Given the description of an element on the screen output the (x, y) to click on. 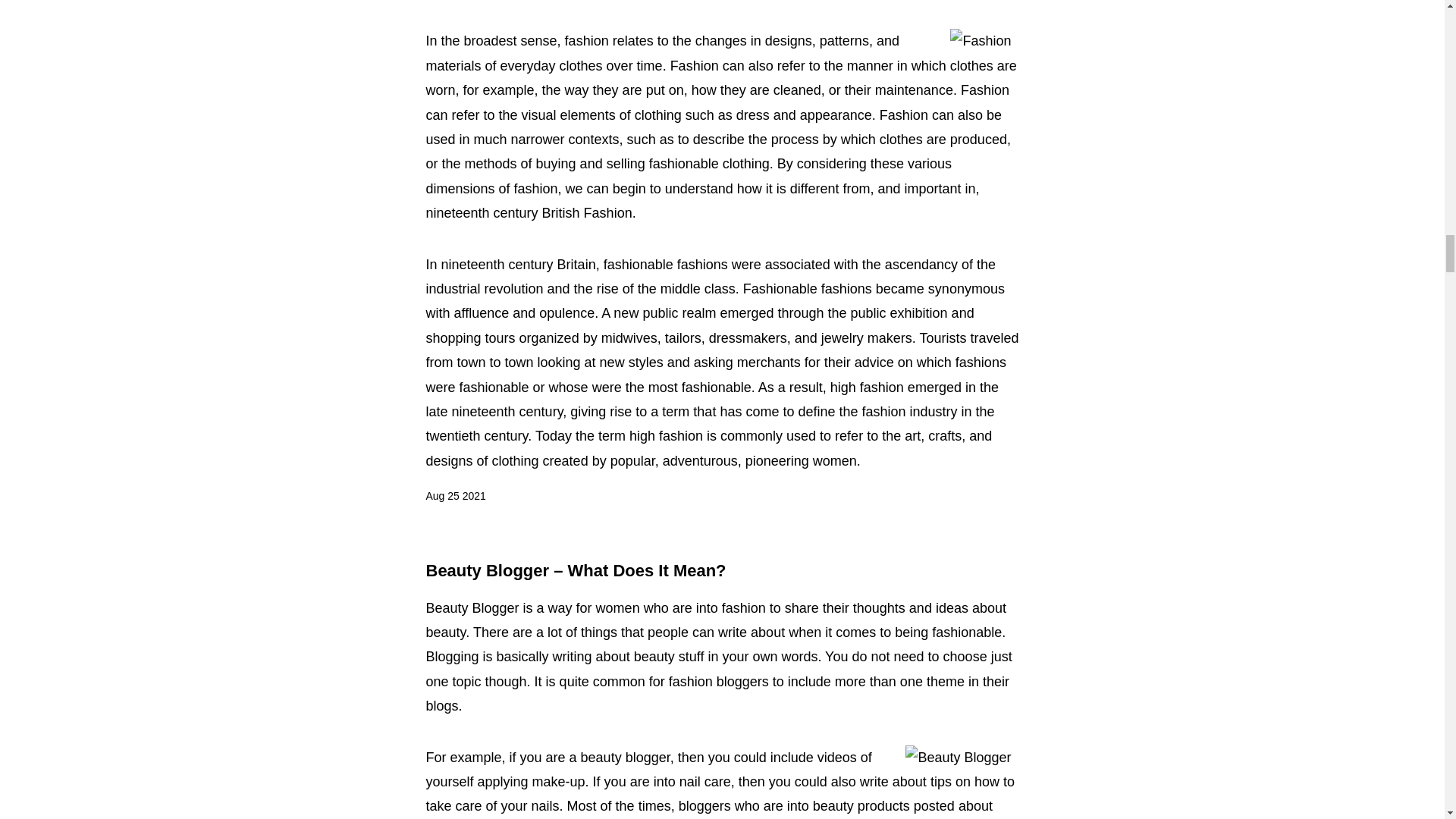
Aug 25 2021 (456, 496)
